Given the description of an element on the screen output the (x, y) to click on. 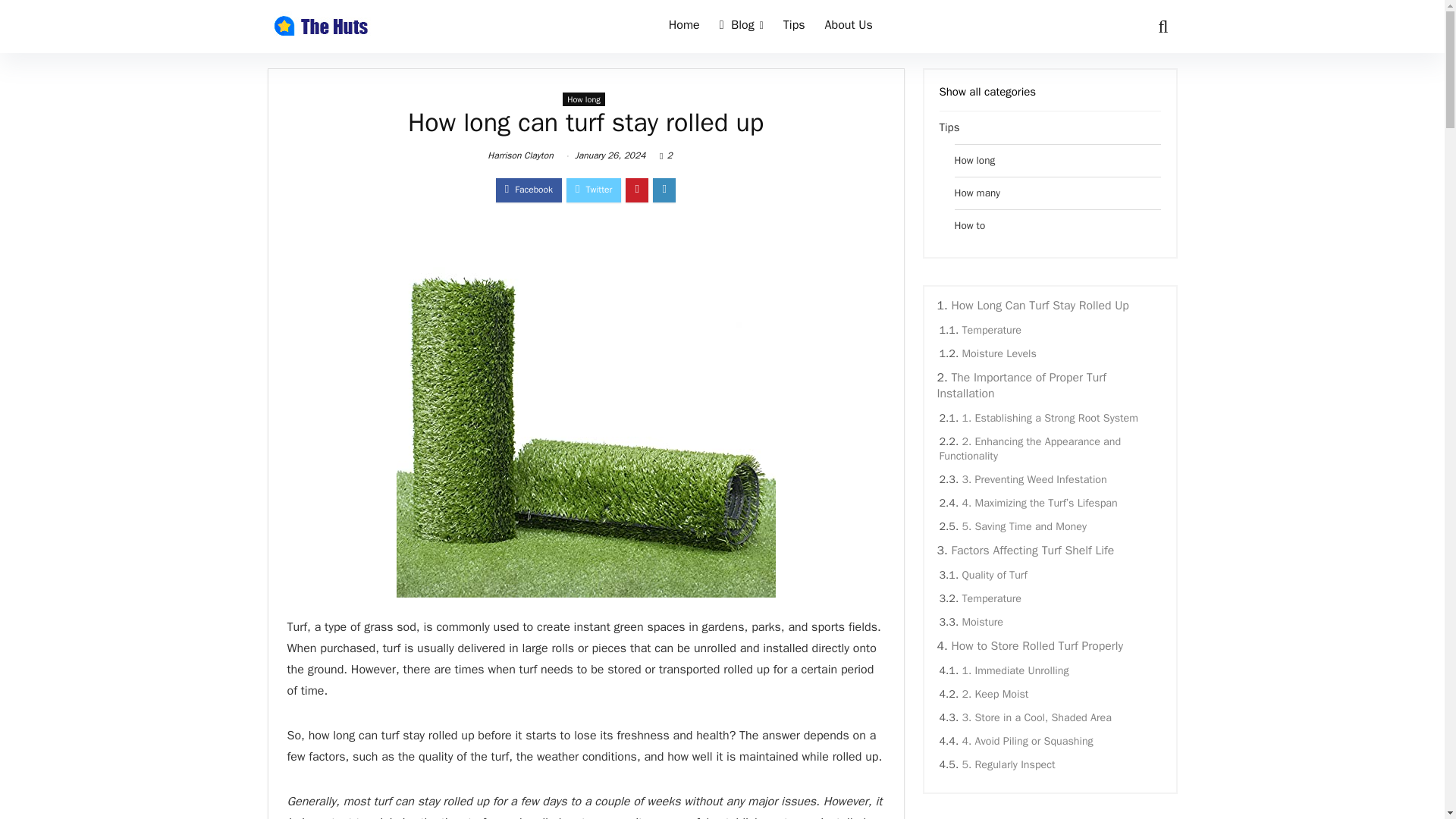
About Us (848, 26)
View all posts in How long (583, 99)
Tips (794, 26)
Home (684, 26)
How long (583, 99)
Blog (741, 26)
Harrison Clayton (520, 155)
